Given the description of an element on the screen output the (x, y) to click on. 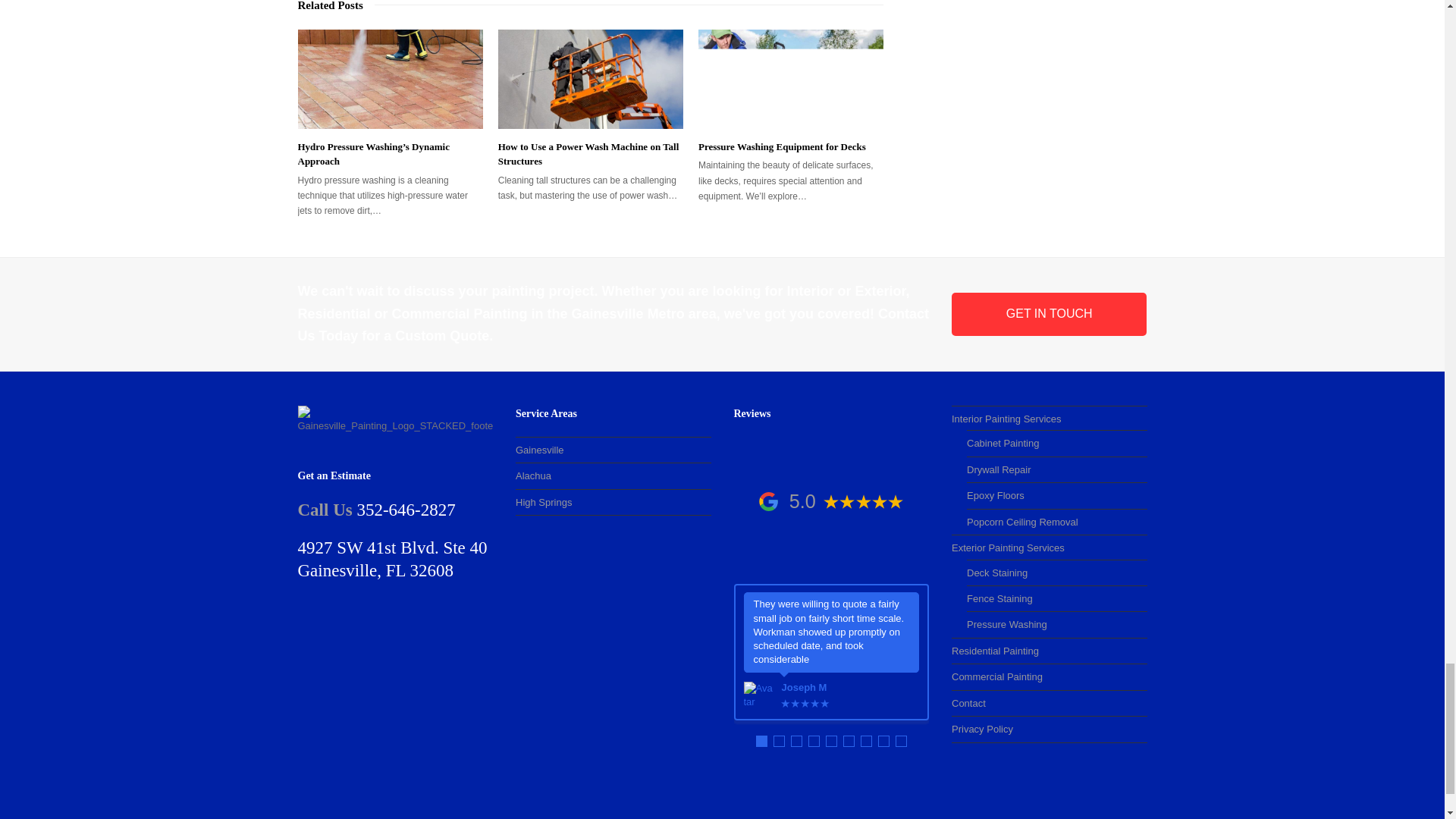
Pressure Washing Equipment for Decks (782, 146)
Powered by Google (767, 501)
How to Use a Power Wash Machine on Tall Structures (588, 153)
How to Use a Power Wash Machine on Tall Structures (589, 78)
Pressure Washing Equipment for Decks (790, 78)
GET IN TOUCH (1049, 313)
